Given the description of an element on the screen output the (x, y) to click on. 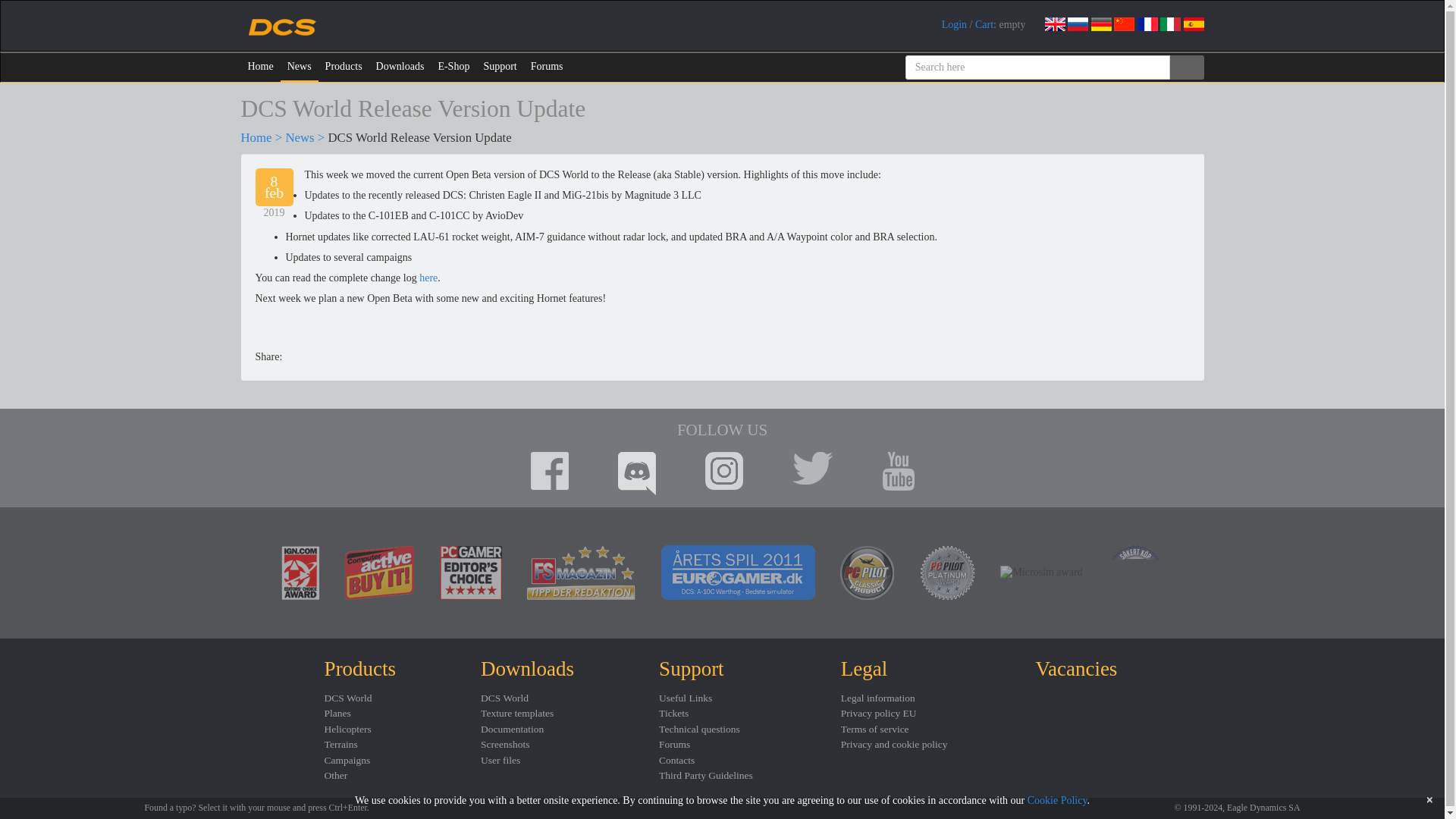
Swedish award (1135, 572)
Cart (983, 24)
Home (261, 66)
Search (1186, 66)
Support (499, 66)
Home (256, 137)
Vkontakte (342, 357)
News (299, 67)
'Tipp der Redaktion' from the German magazine FS Magazin (580, 572)
Downloads (399, 66)
